Given the description of an element on the screen output the (x, y) to click on. 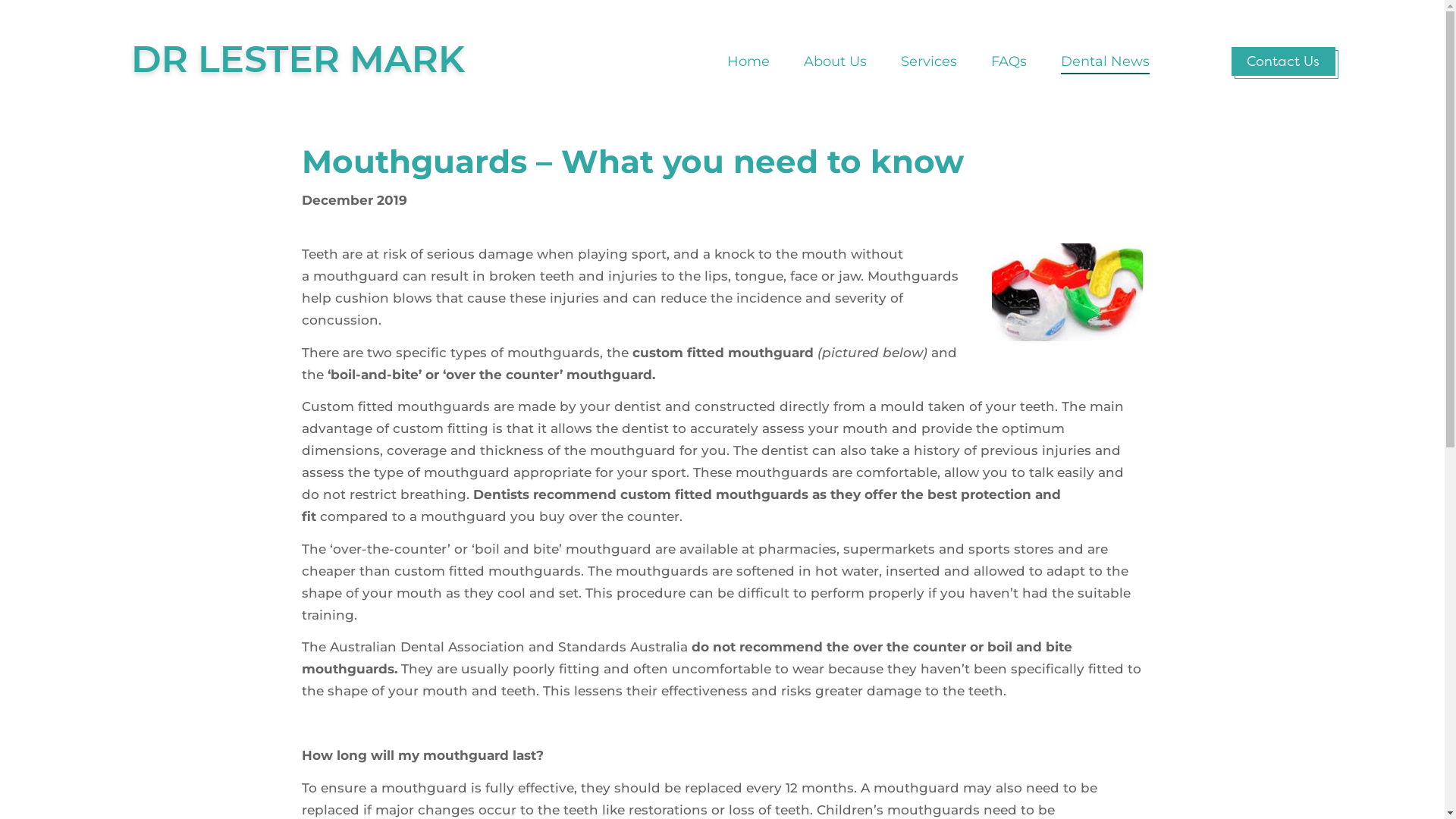
About Us Element type: text (834, 61)
Dental News Element type: text (1104, 61)
FAQs Element type: text (1008, 61)
Contact Us Element type: text (1283, 61)
Home Element type: text (748, 61)
Services Element type: text (928, 61)
